Given the description of an element on the screen output the (x, y) to click on. 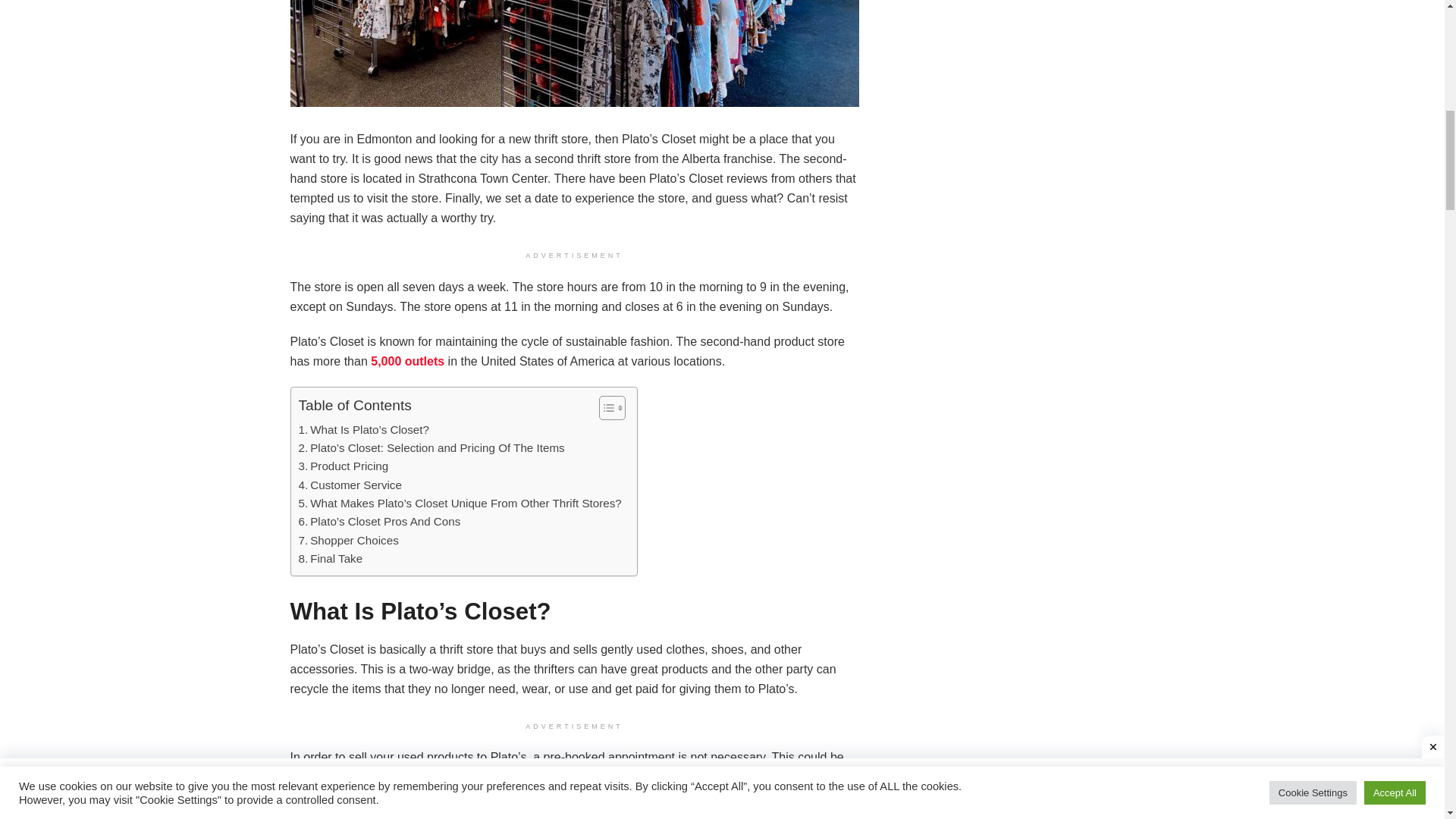
Product Pricing (343, 466)
Customer Service (349, 484)
Customer Service (349, 484)
5,000 outlets (407, 360)
Shopper Choices (348, 540)
Final Take (330, 558)
Product Pricing (343, 466)
